Given the description of an element on the screen output the (x, y) to click on. 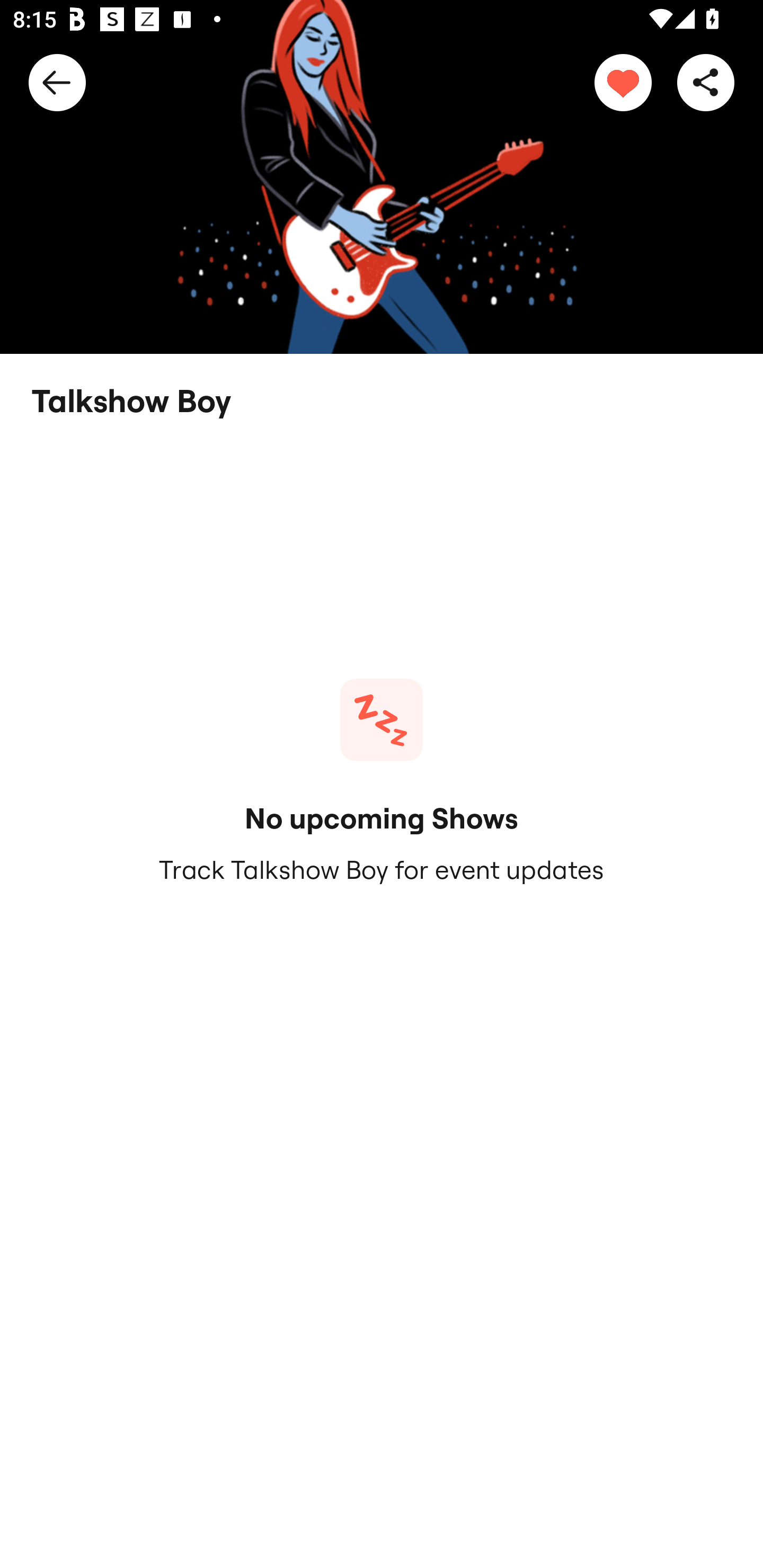
Back (57, 81)
Track this performer (623, 81)
Share this performer (705, 81)
